Given the description of an element on the screen output the (x, y) to click on. 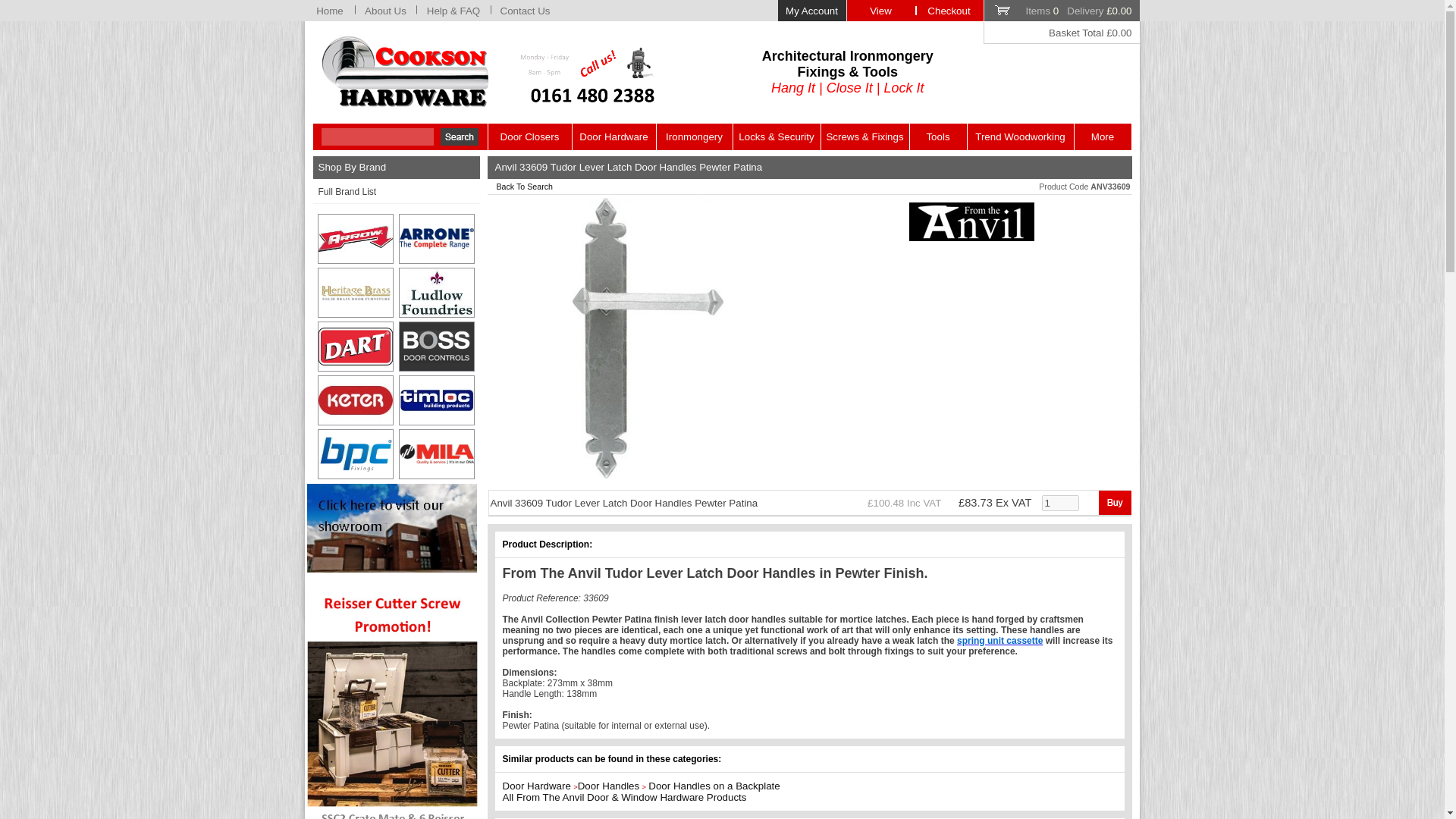
Ludlow Foundries Ironmongery (436, 292)
Ironmongery (694, 136)
Arrone Architectural Hardware (436, 238)
View (879, 10)
Contact Us (525, 10)
My Account (811, 10)
Home (328, 10)
Tools (938, 136)
BPC Builders Metalwork (355, 453)
Door Closers (529, 136)
